Given the description of an element on the screen output the (x, y) to click on. 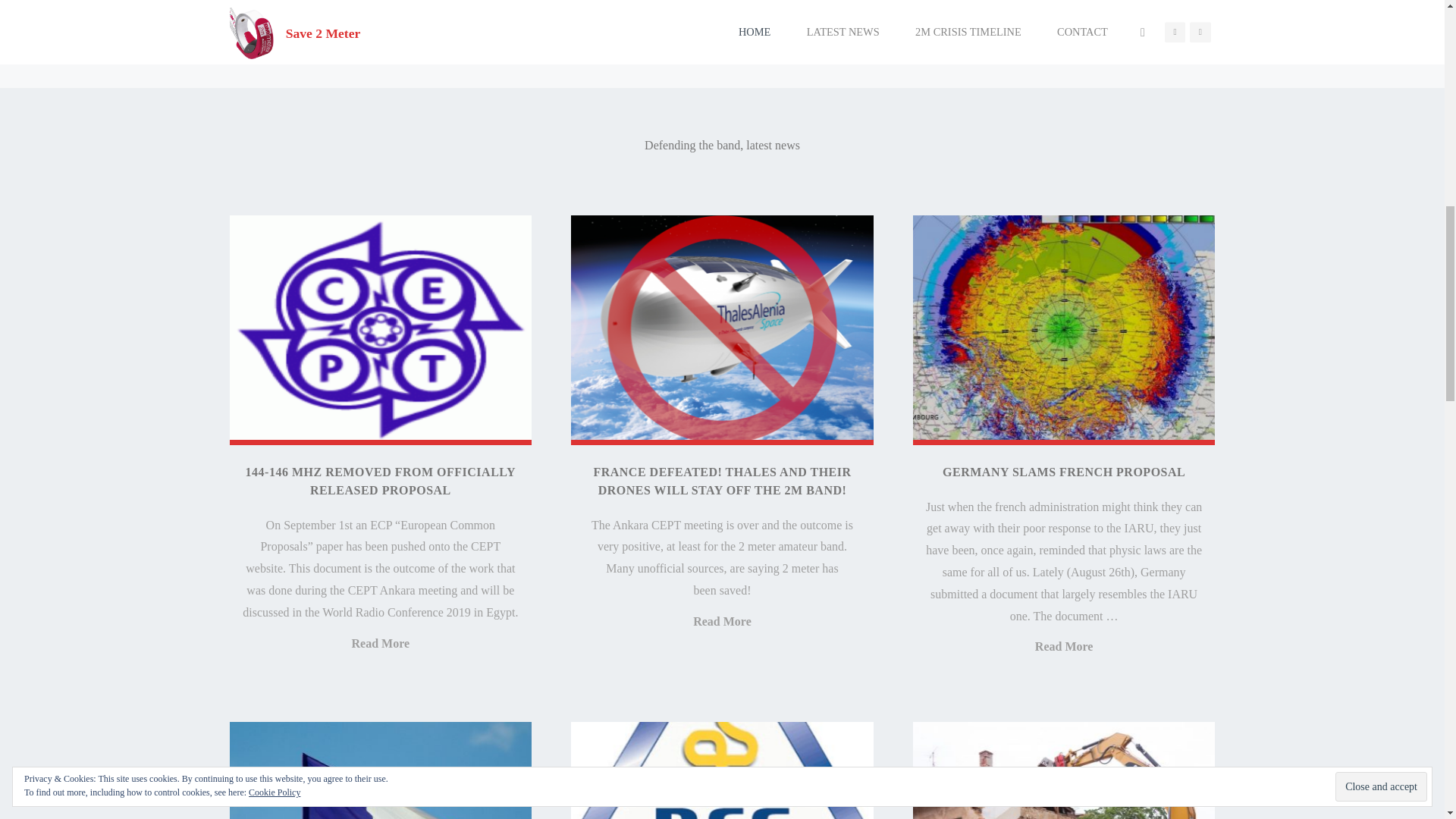
Click to share on Pinterest (493, 16)
Click to share on LinkedIn (415, 16)
French administration strikes back at IARU (379, 770)
144-146 MHZ REMOVED FROM OFFICIALLY RELEASED PROPOSAL (380, 481)
Twitter (343, 16)
Email (564, 16)
144-146 Mhz removed from officially released proposal (379, 329)
LinkedIn (415, 16)
